Given the description of an element on the screen output the (x, y) to click on. 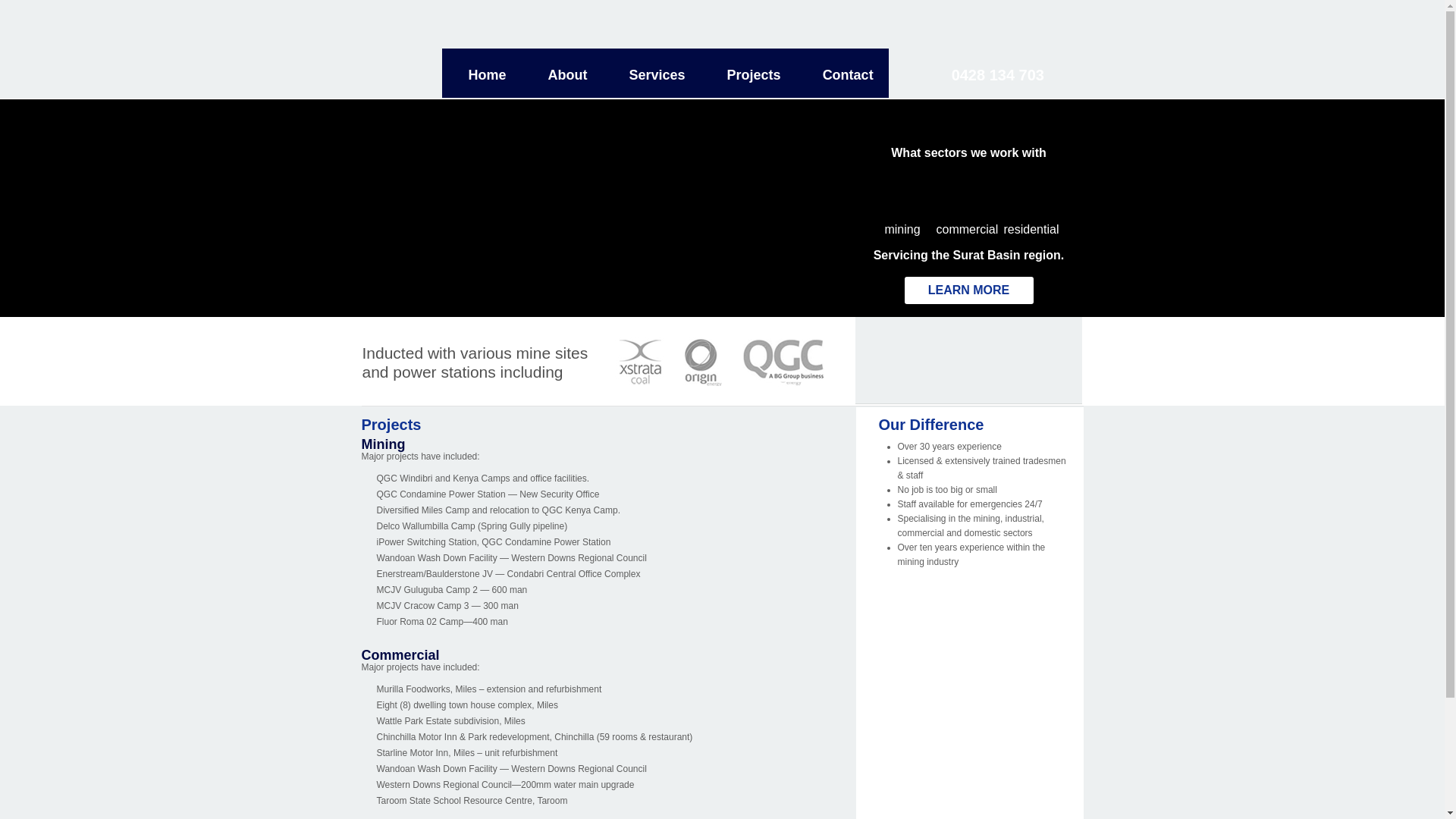
Capability Statement Element type: text (967, 360)
Projects Element type: text (754, 75)
residential Element type: text (1031, 206)
LEARN MORE Element type: text (967, 290)
Commercial Element type: text (399, 654)
commercial Element type: text (966, 206)
Contact Element type: text (847, 75)
About Element type: text (567, 75)
Mining Element type: text (382, 443)
Services Element type: text (657, 75)
mining Element type: text (902, 206)
Home Element type: text (487, 75)
J. Mullins Plumbings Element type: text (399, 48)
